Given the description of an element on the screen output the (x, y) to click on. 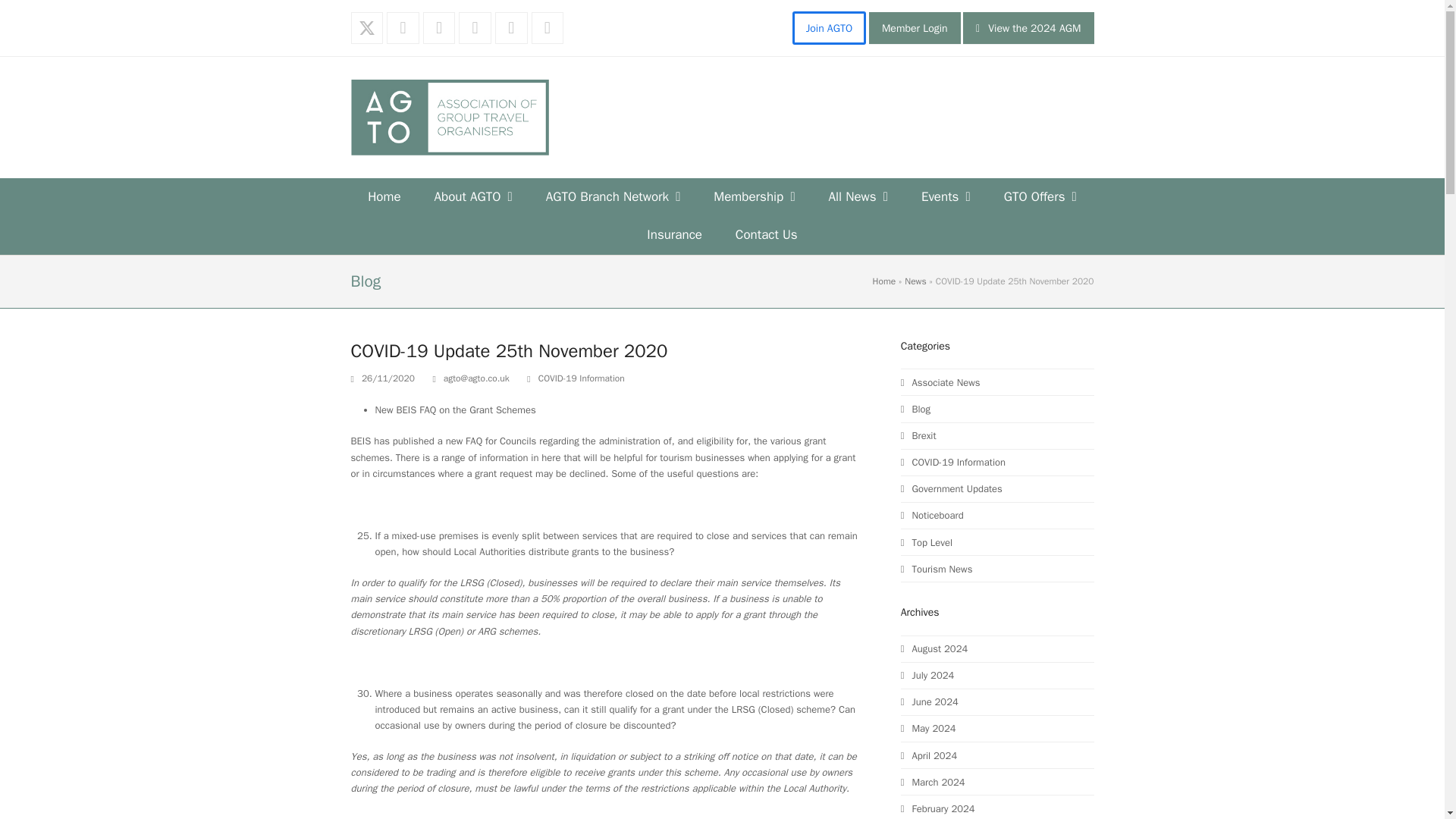
YouTube (547, 28)
Twitter (366, 28)
Home (383, 198)
Facebook (403, 28)
Events (945, 198)
Twitter (366, 28)
Pinterest (475, 28)
Member Login (914, 28)
Facebook (403, 28)
YouTube (547, 28)
